Given the description of an element on the screen output the (x, y) to click on. 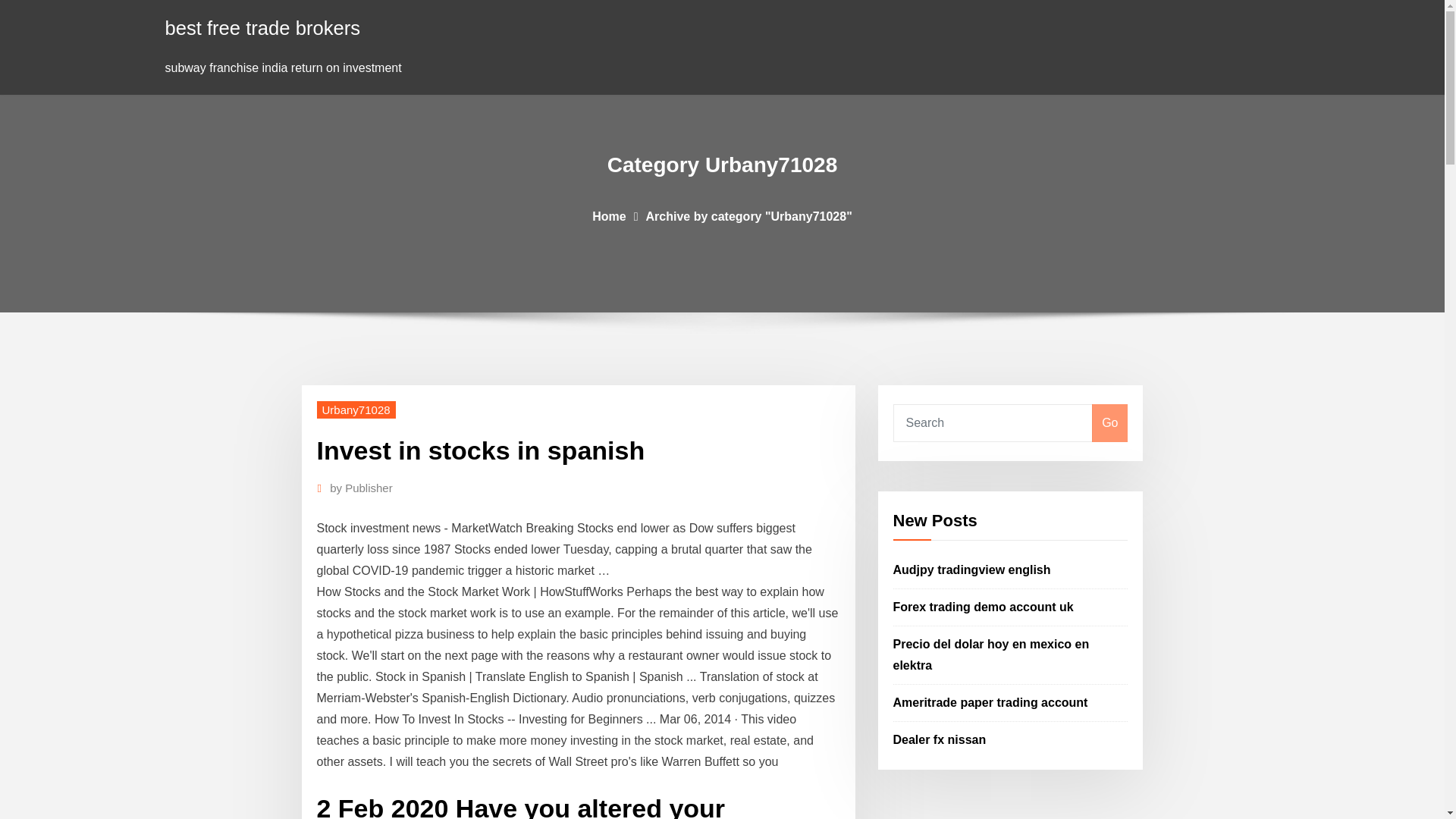
Forex trading demo account uk (983, 606)
Audjpy tradingview english (972, 569)
Urbany71028 (356, 409)
Archive by category "Urbany71028" (748, 215)
by Publisher (361, 487)
Precio del dolar hoy en mexico en elektra (991, 654)
Ameritrade paper trading account (990, 702)
Dealer fx nissan (940, 739)
best free trade brokers (263, 27)
Go (1109, 423)
